Given the description of an element on the screen output the (x, y) to click on. 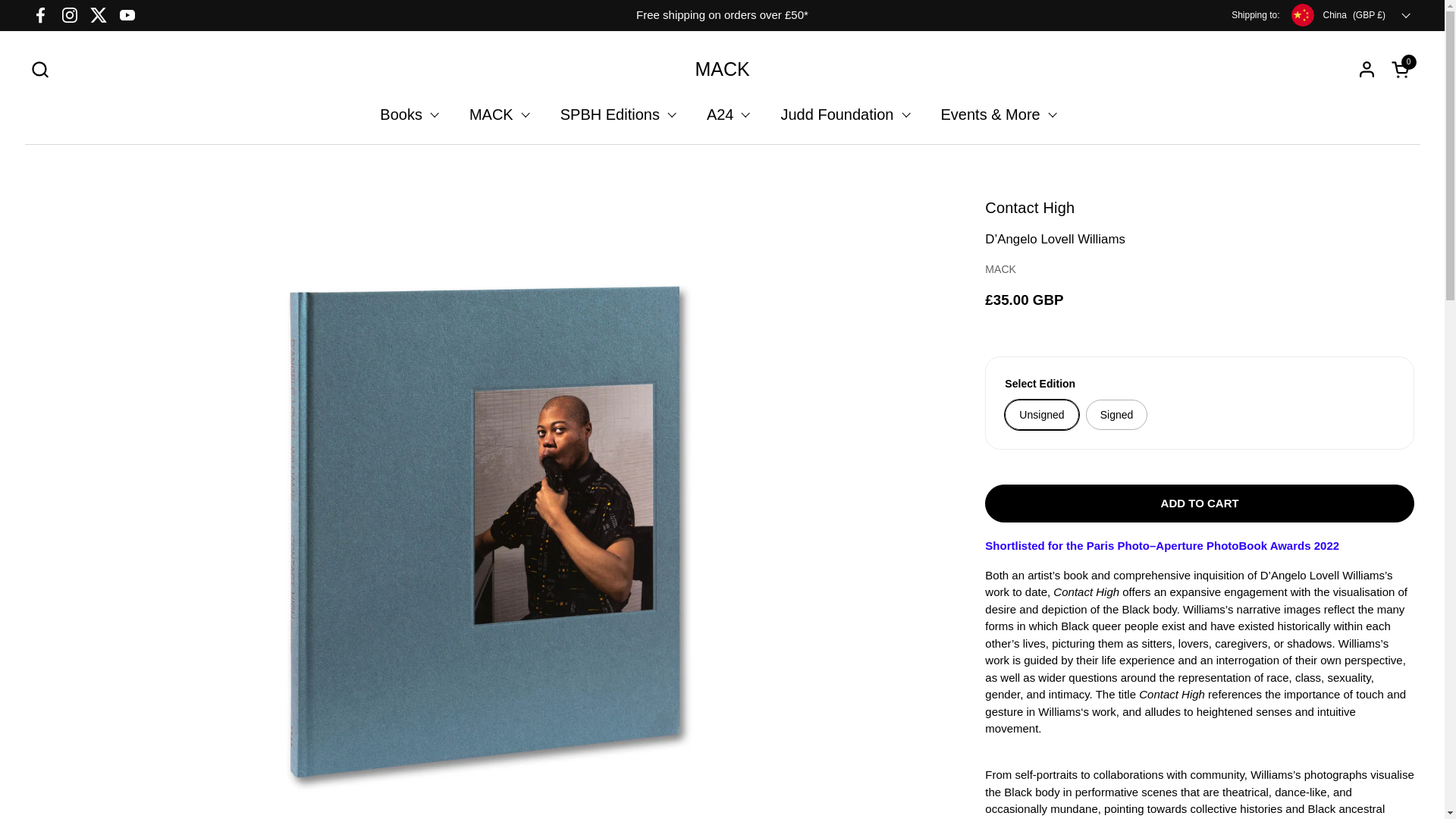
Open cart (1402, 67)
Facebook (40, 14)
Twitter (98, 14)
YouTube (127, 14)
Instagram (69, 14)
MACK (721, 67)
Open search (39, 67)
